Given the description of an element on the screen output the (x, y) to click on. 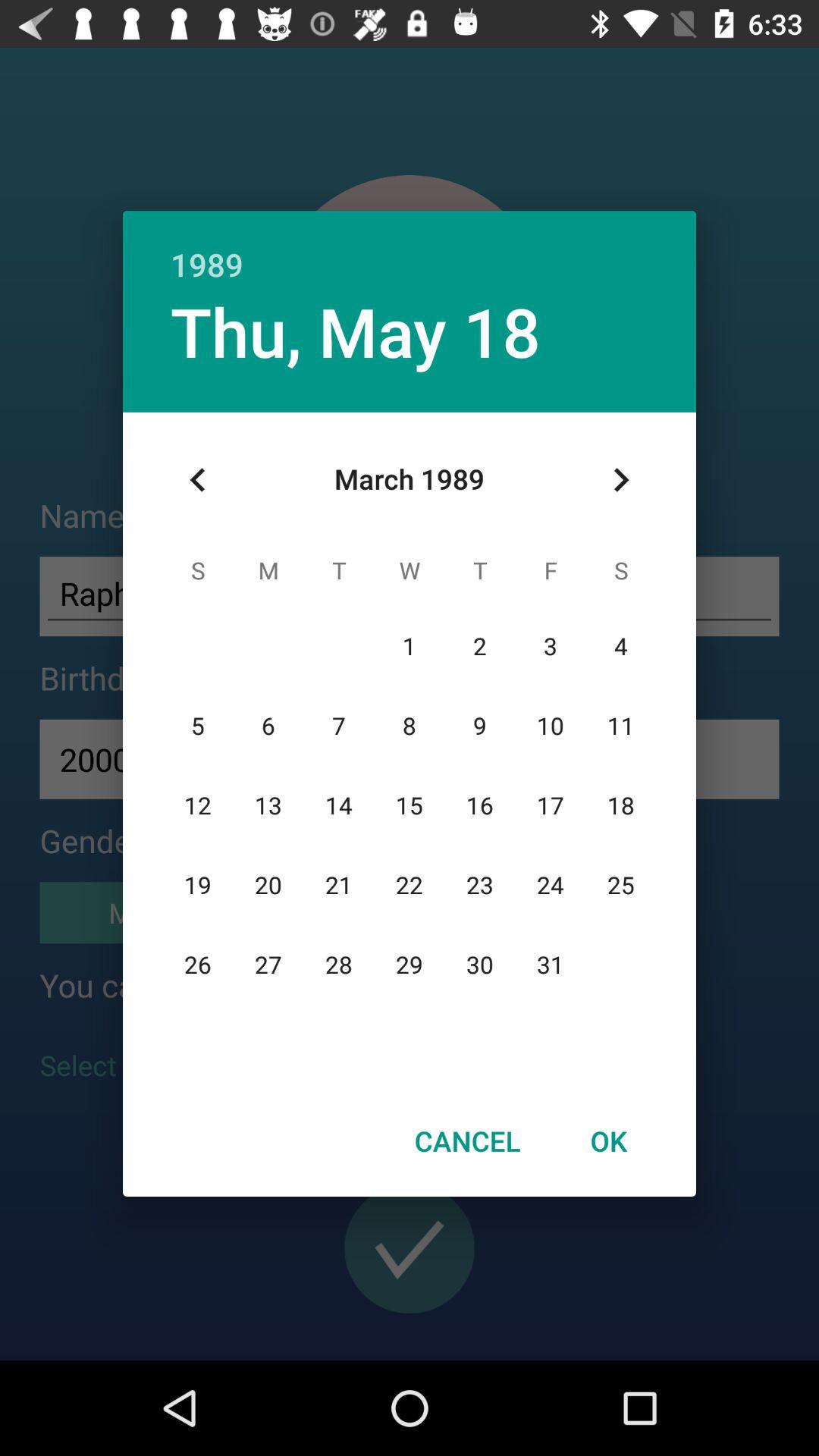
launch the cancel (467, 1140)
